Given the description of an element on the screen output the (x, y) to click on. 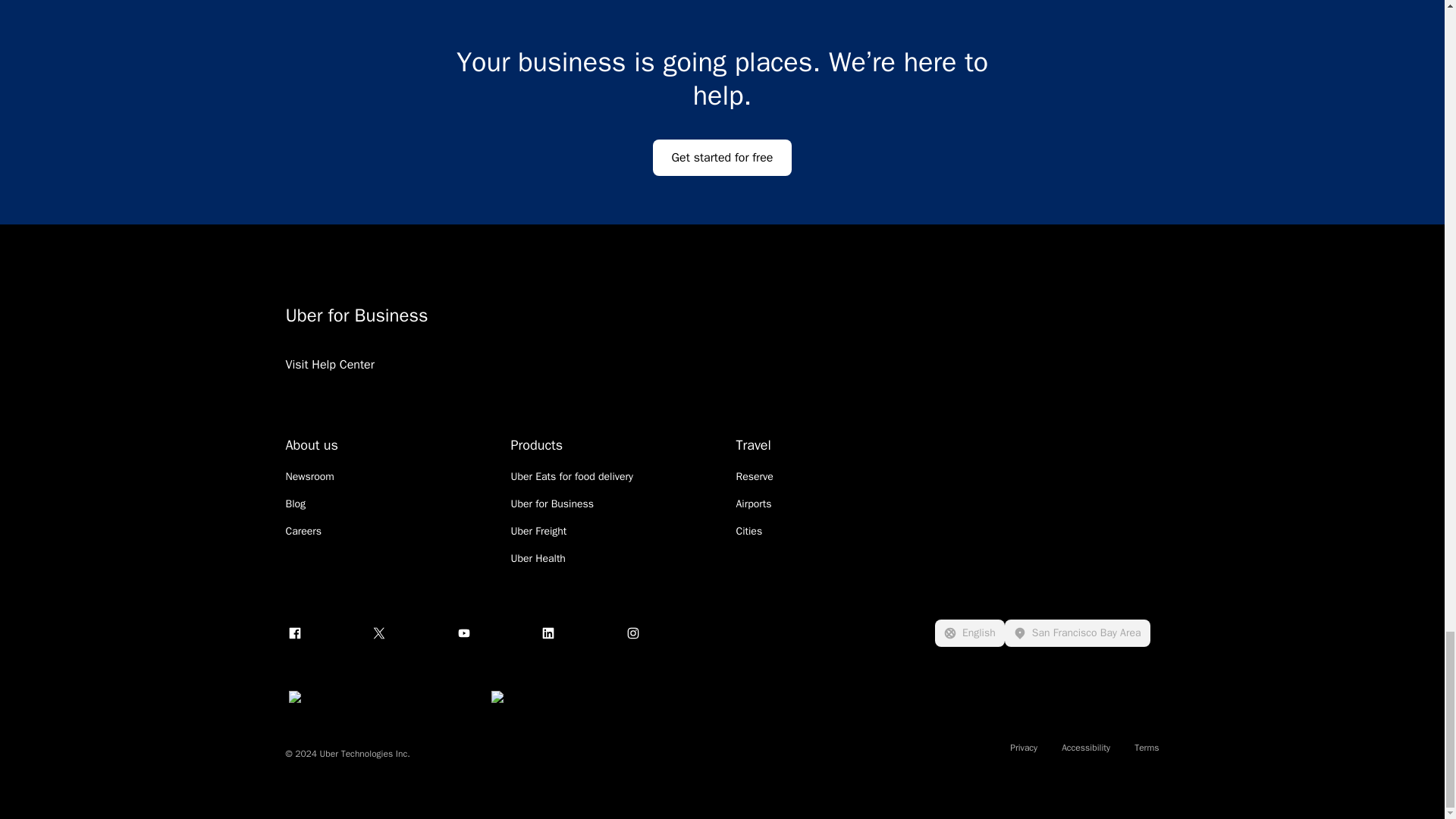
English (969, 633)
Careers (303, 531)
Accessibility (1085, 747)
Blog (295, 503)
Newsroom (309, 476)
Airports (753, 503)
Terms (1146, 747)
Uber Freight (539, 531)
Uber for Business (552, 503)
San Francisco Bay Area (1077, 633)
Cities (748, 531)
Uber for Business (572, 314)
About us (311, 444)
Get started for free (722, 157)
Visit Help Center (329, 383)
